Given the description of an element on the screen output the (x, y) to click on. 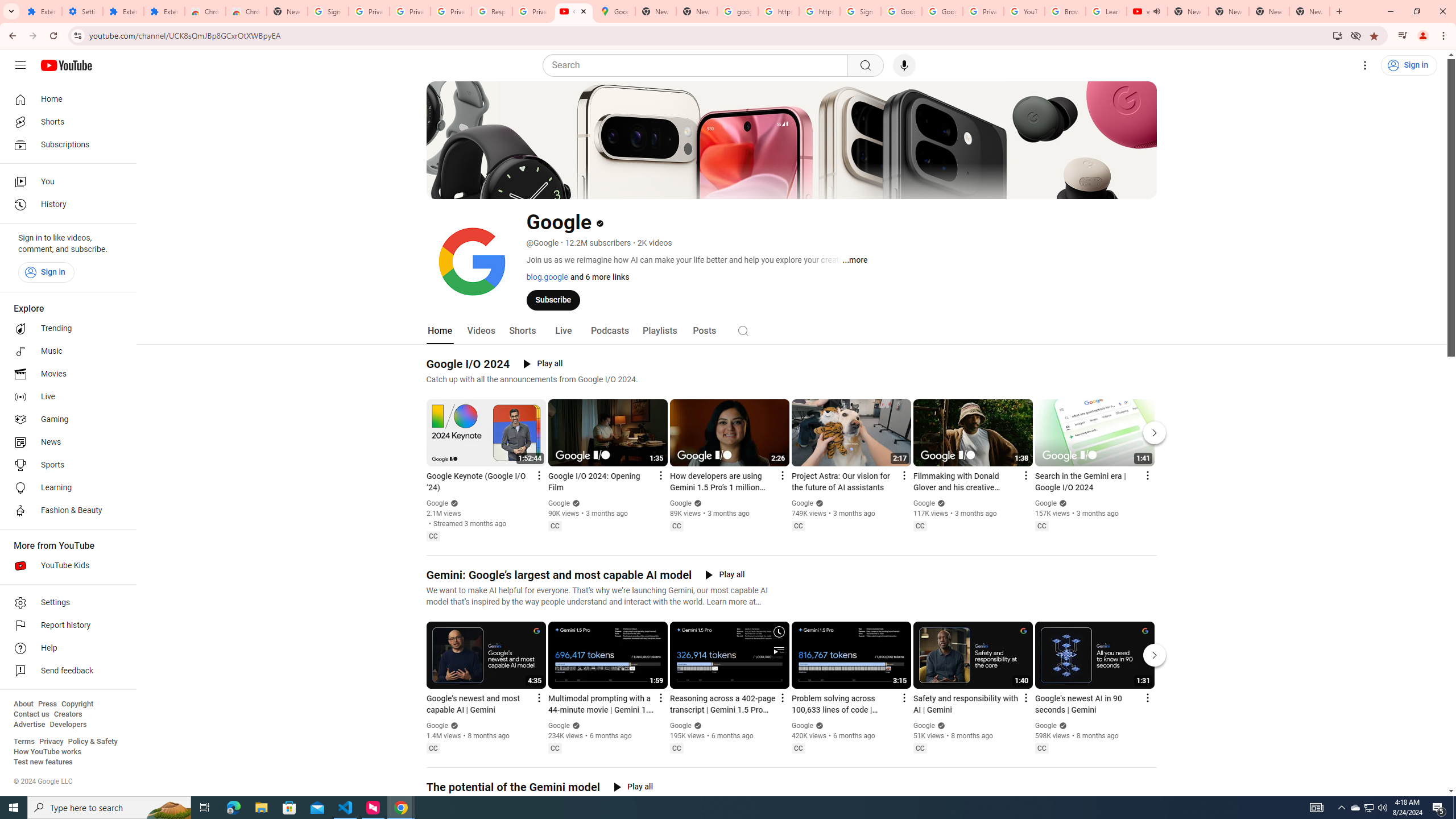
Chrome Web Store - Themes (246, 11)
Browse Chrome as a guest - Computer - Google Chrome Help (1064, 11)
Learning (64, 487)
Action menu (1146, 697)
Podcasts (608, 330)
Test new features (42, 761)
Home (440, 330)
https://scholar.google.com/ (818, 11)
History (64, 204)
Extensions (41, 11)
https://scholar.google.com/ (777, 11)
Fashion & Beauty (64, 510)
